Given the description of an element on the screen output the (x, y) to click on. 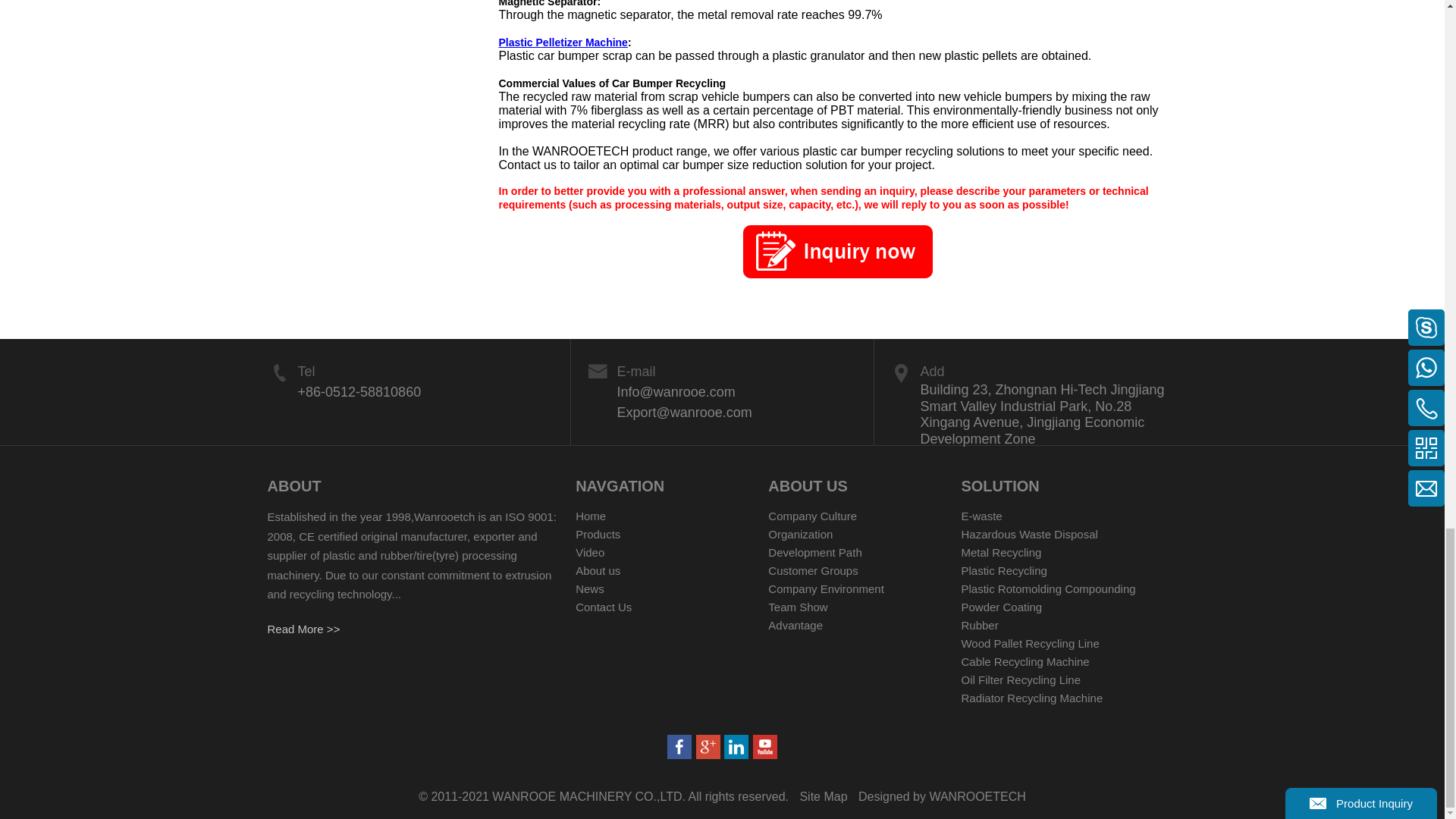
Linkedin (735, 746)
Twitter (764, 746)
wanrooetech inquiry now (837, 251)
Facebook (678, 746)
Facebook (707, 746)
